Given the description of an element on the screen output the (x, y) to click on. 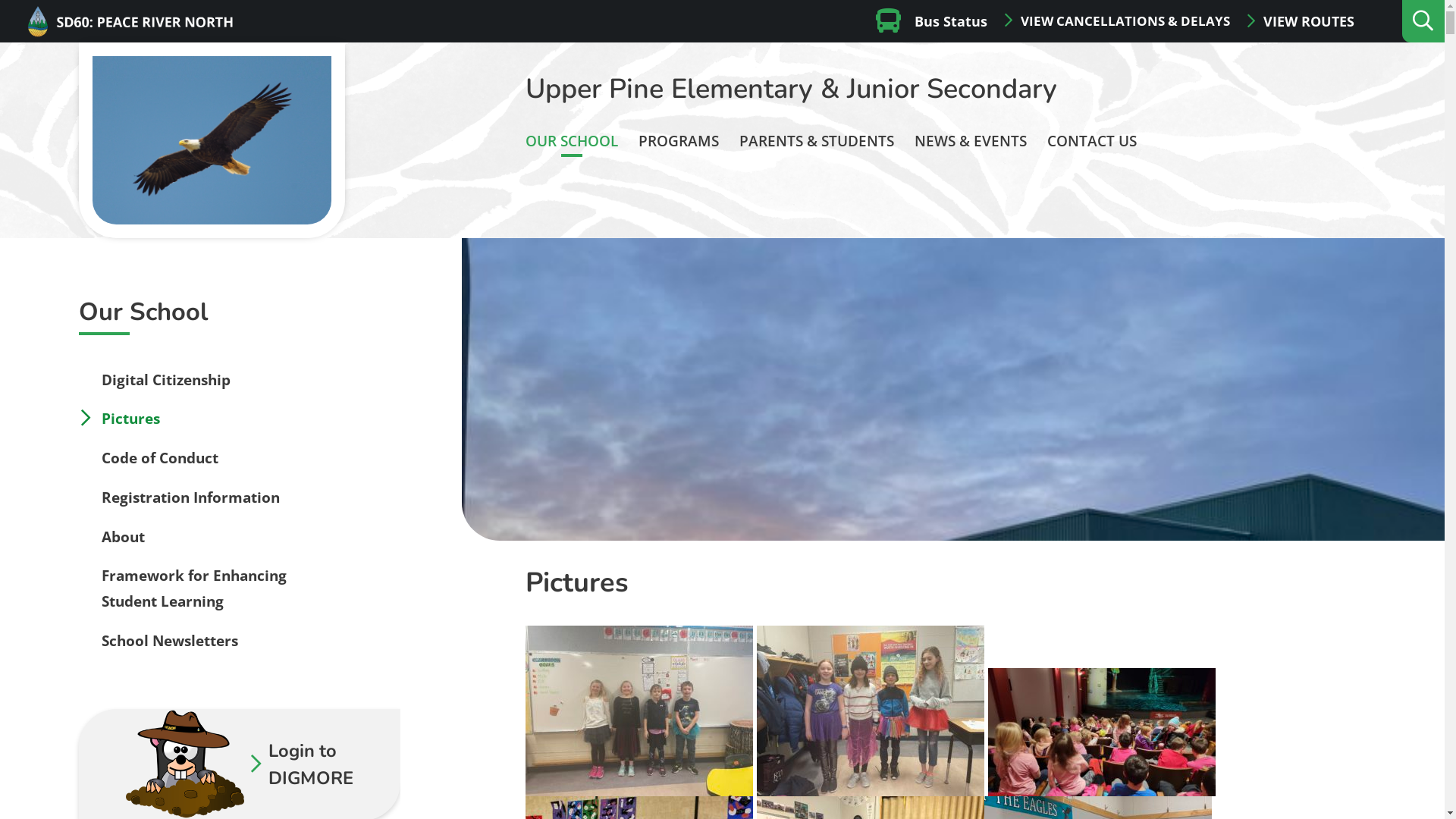
Framework for Enhancing Student Learning Element type: text (193, 588)
Our School Element type: text (163, 312)
VIEW ROUTES Element type: text (1299, 20)
OUR SCHOOL Element type: text (571, 140)
NEWS & EVENTS Element type: text (970, 140)
Registration Information Element type: text (190, 497)
Pictures Element type: text (130, 418)
Code of Conduct Element type: text (159, 457)
School Newsletters Element type: text (169, 640)
Digital Citizenship Element type: text (165, 379)
CONTACT US Element type: text (1091, 140)
Upper Pine Elementary & Junior Secondary Element type: text (791, 88)
PROGRAMS Element type: text (678, 140)
About Element type: text (122, 536)
PARENTS & STUDENTS Element type: text (816, 140)
VIEW CANCELLATIONS & DELAYS Element type: text (1117, 20)
